Given the description of an element on the screen output the (x, y) to click on. 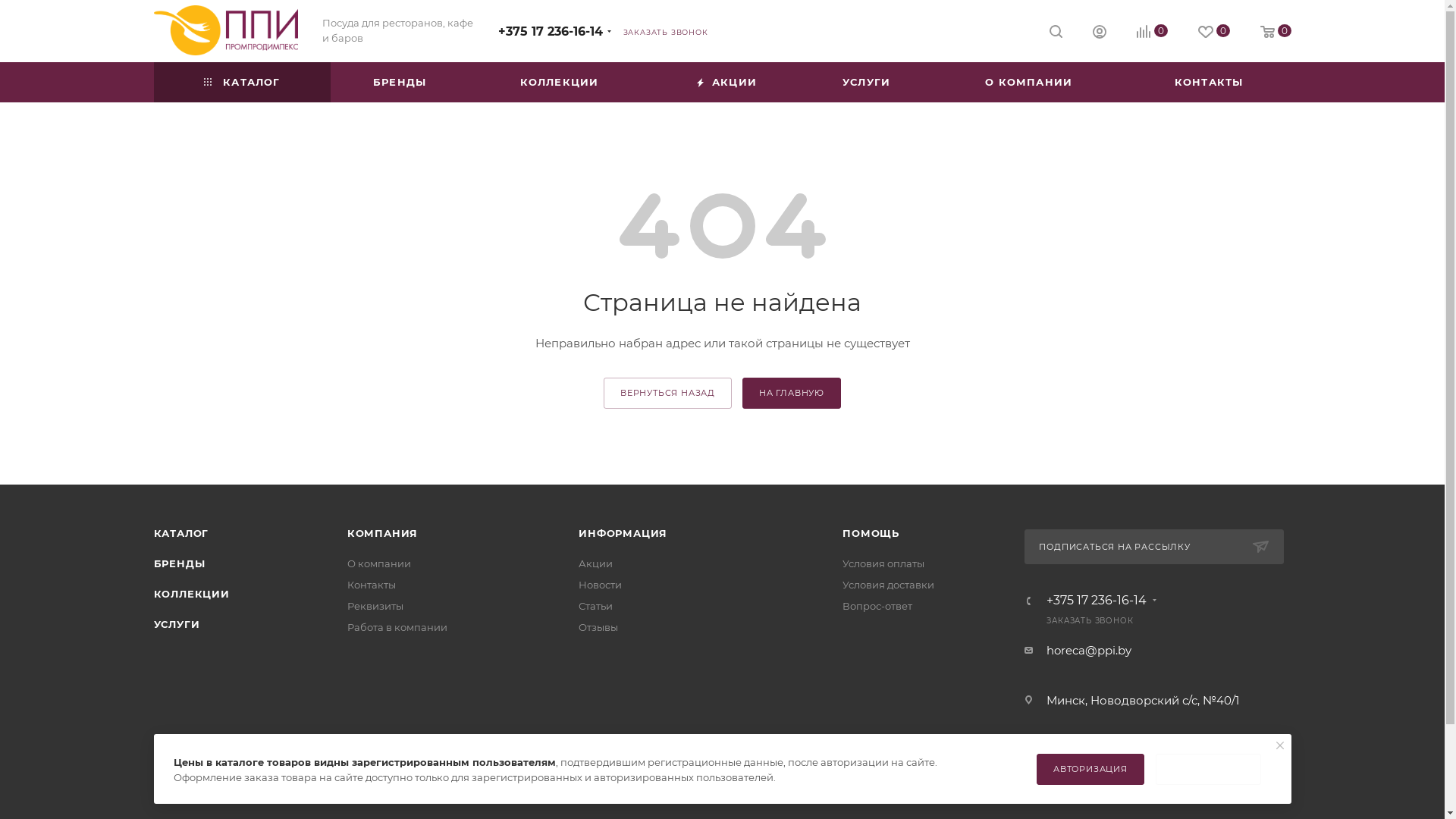
YouTube Element type: text (760, 781)
horeca@ppi.by Element type: text (1088, 650)
0 Element type: text (1275, 31)
0 Element type: text (1151, 31)
+375 17 236-16-14 Element type: text (1096, 600)
+375 17 236-16-14 Element type: text (549, 31)
0 Element type: text (1214, 31)
Facebook Element type: text (683, 781)
Instagram Element type: text (722, 781)
ppi.by Element type: hover (225, 30)
